Given the description of an element on the screen output the (x, y) to click on. 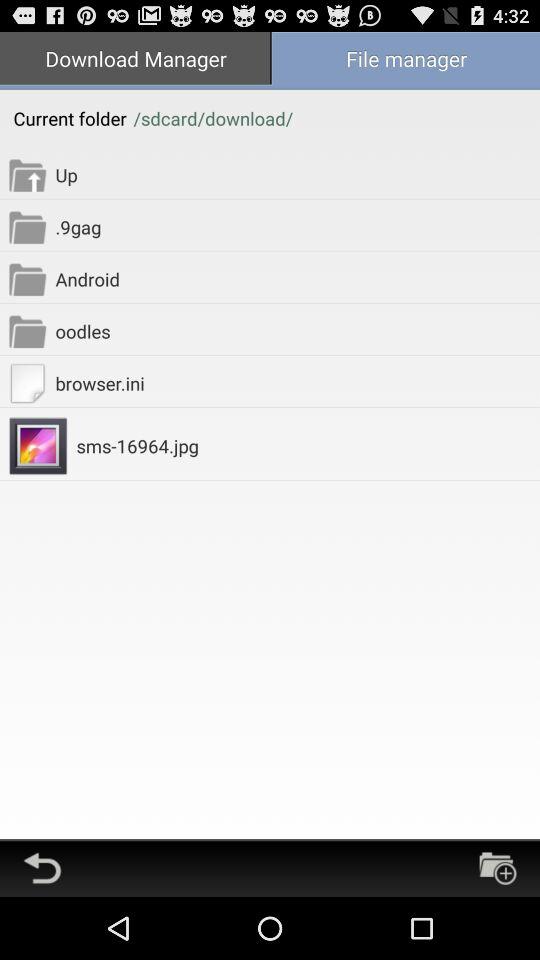
click the app next to download manager (405, 60)
